Given the description of an element on the screen output the (x, y) to click on. 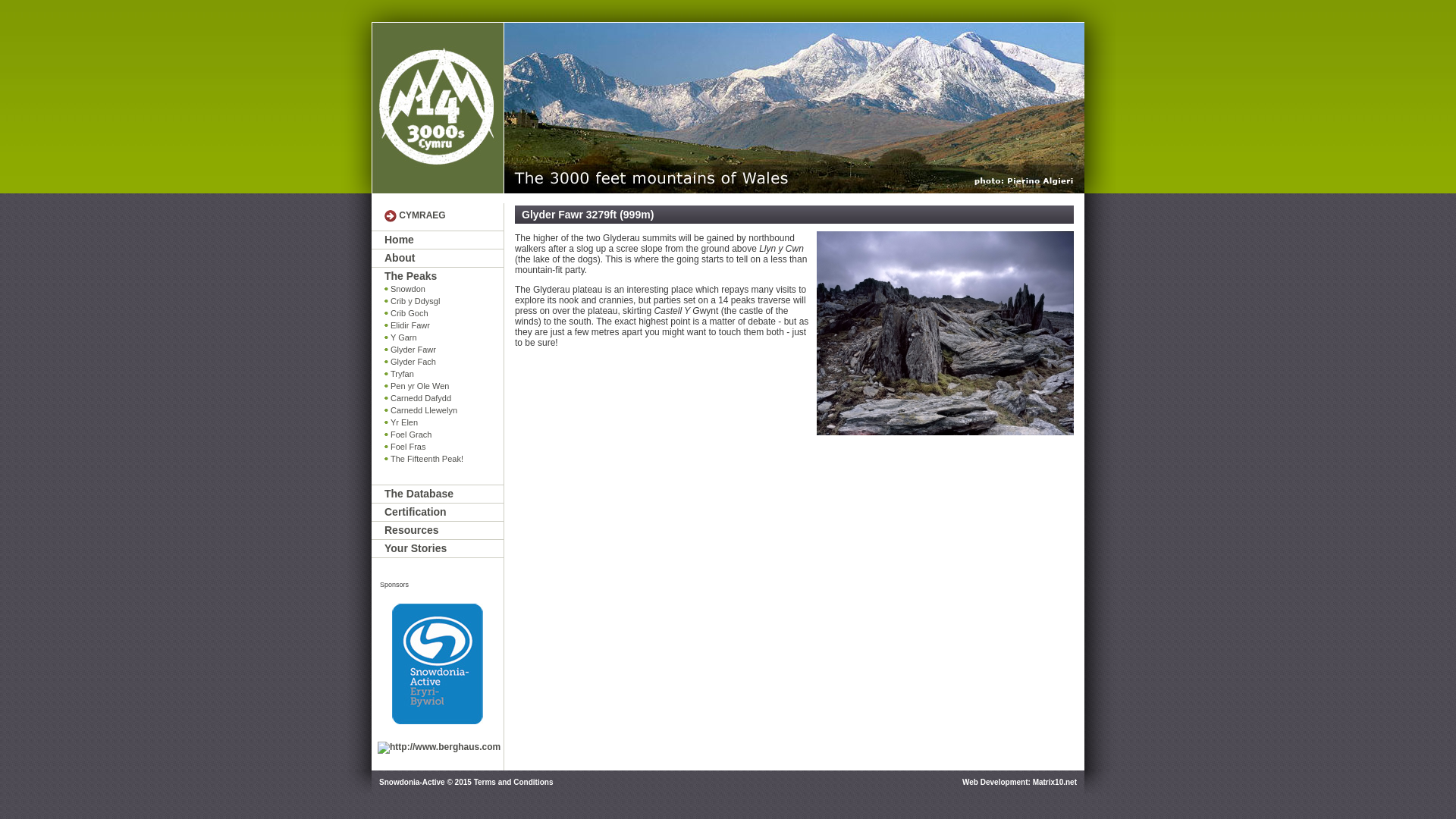
Berghaus - Live for Adventure Element type: hover (438, 747)
Tryfan Element type: text (443, 374)
Foel Fras Element type: text (443, 446)
Snowdon Element type: text (443, 289)
Carnedd Dafydd Element type: text (443, 398)
Foel Grach Element type: text (443, 434)
The Database Element type: text (443, 493)
Your Stories Element type: text (443, 548)
CYMRAEG Element type: text (421, 215)
Passionate about the Park - Photo by Pierino Algieri Element type: hover (793, 107)
Yr Elen Element type: text (443, 422)
Cymdeithas Eryri - Snowdonia Society Element type: hover (437, 107)
Resources Element type: text (443, 530)
Elidir Fawr Element type: text (443, 325)
Snowdonia-Active Element type: hover (437, 663)
The Fifteenth Peak! Element type: text (443, 459)
The Peaks Element type: text (443, 276)
Matrix10.net Element type: text (1054, 782)
About Element type: text (443, 257)
Terms and Conditions Element type: text (513, 782)
Y Garn Element type: text (443, 337)
Glyder Fach Element type: text (443, 361)
Crib y Ddysgl Element type: text (443, 301)
Pen yr Ole Wen Element type: text (443, 386)
Home Element type: text (443, 239)
Carnedd Llewelyn Element type: text (443, 410)
Glyder Fawr Element type: text (443, 349)
Crib Goch Element type: text (443, 313)
Certification Element type: text (443, 511)
